Given the description of an element on the screen output the (x, y) to click on. 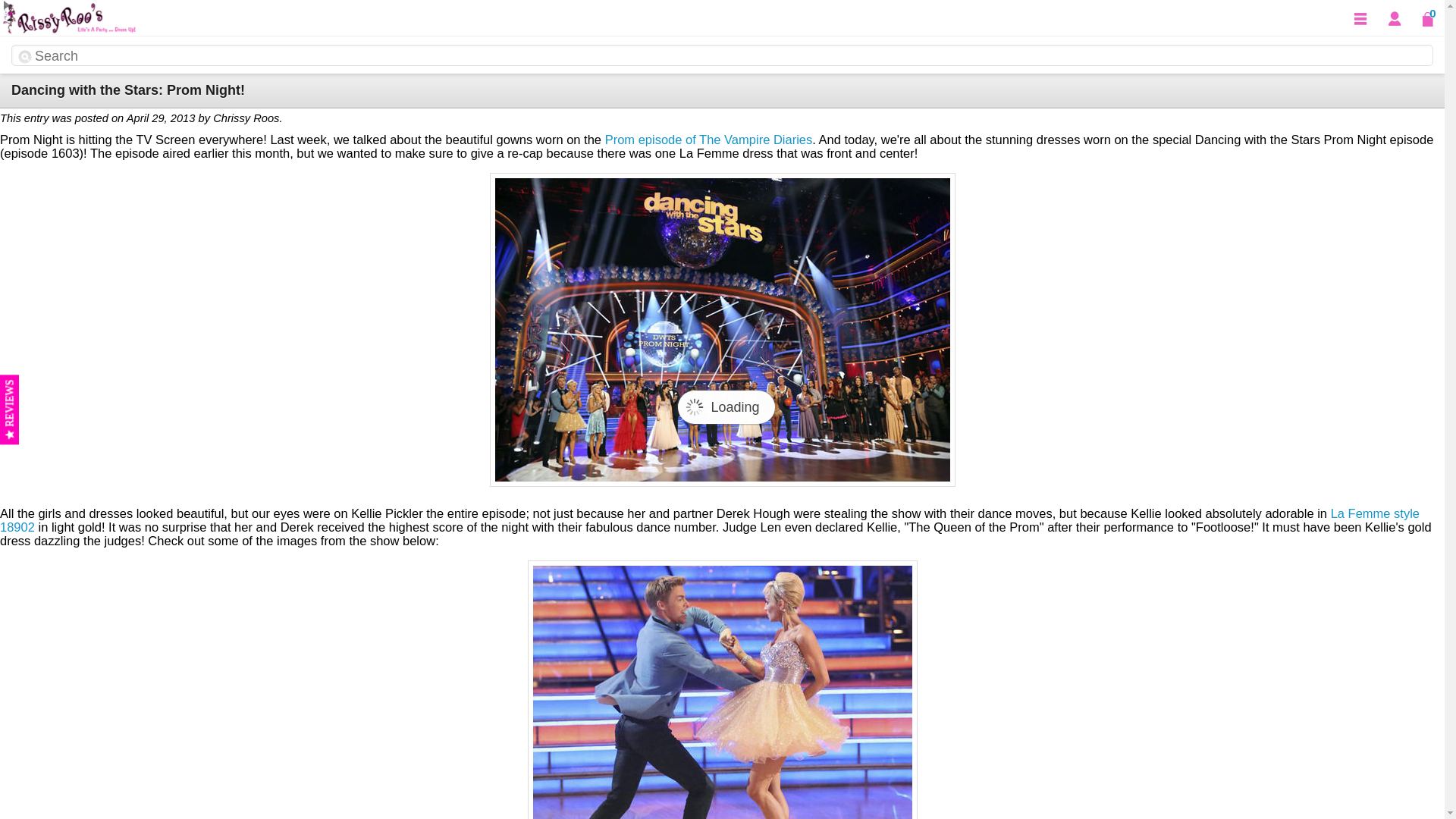
Kellie Pickler in La Femme 18902 on Dancing with the Stars (722, 689)
